Given the description of an element on the screen output the (x, y) to click on. 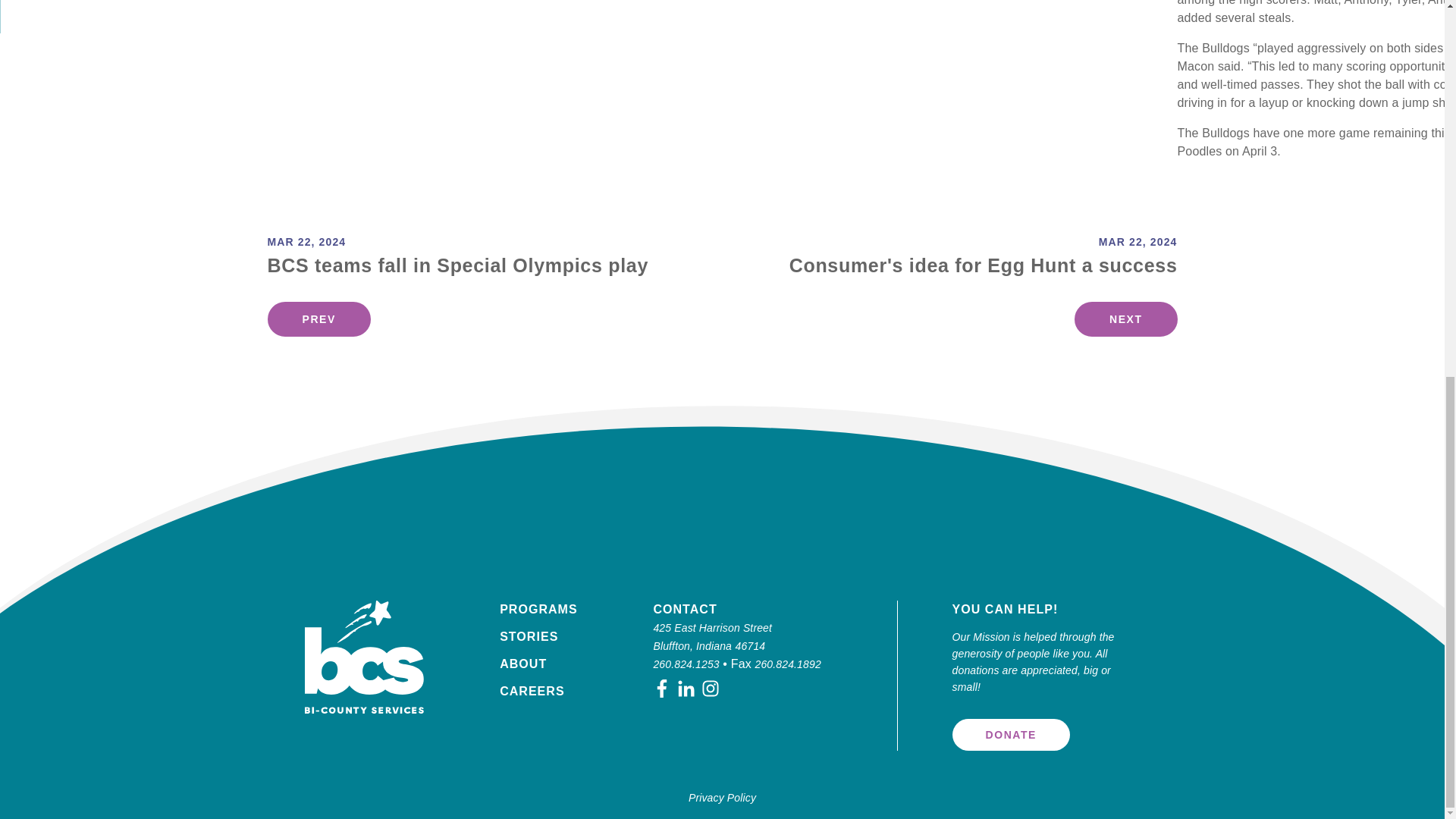
CONTACT (684, 608)
PROGRAMS (538, 608)
CAREERS (531, 690)
NEXT (1125, 319)
STORIES (528, 635)
260.824.1892 (788, 664)
260.824.1253 (685, 664)
PREV (317, 319)
ABOUT (523, 663)
